Given the description of an element on the screen output the (x, y) to click on. 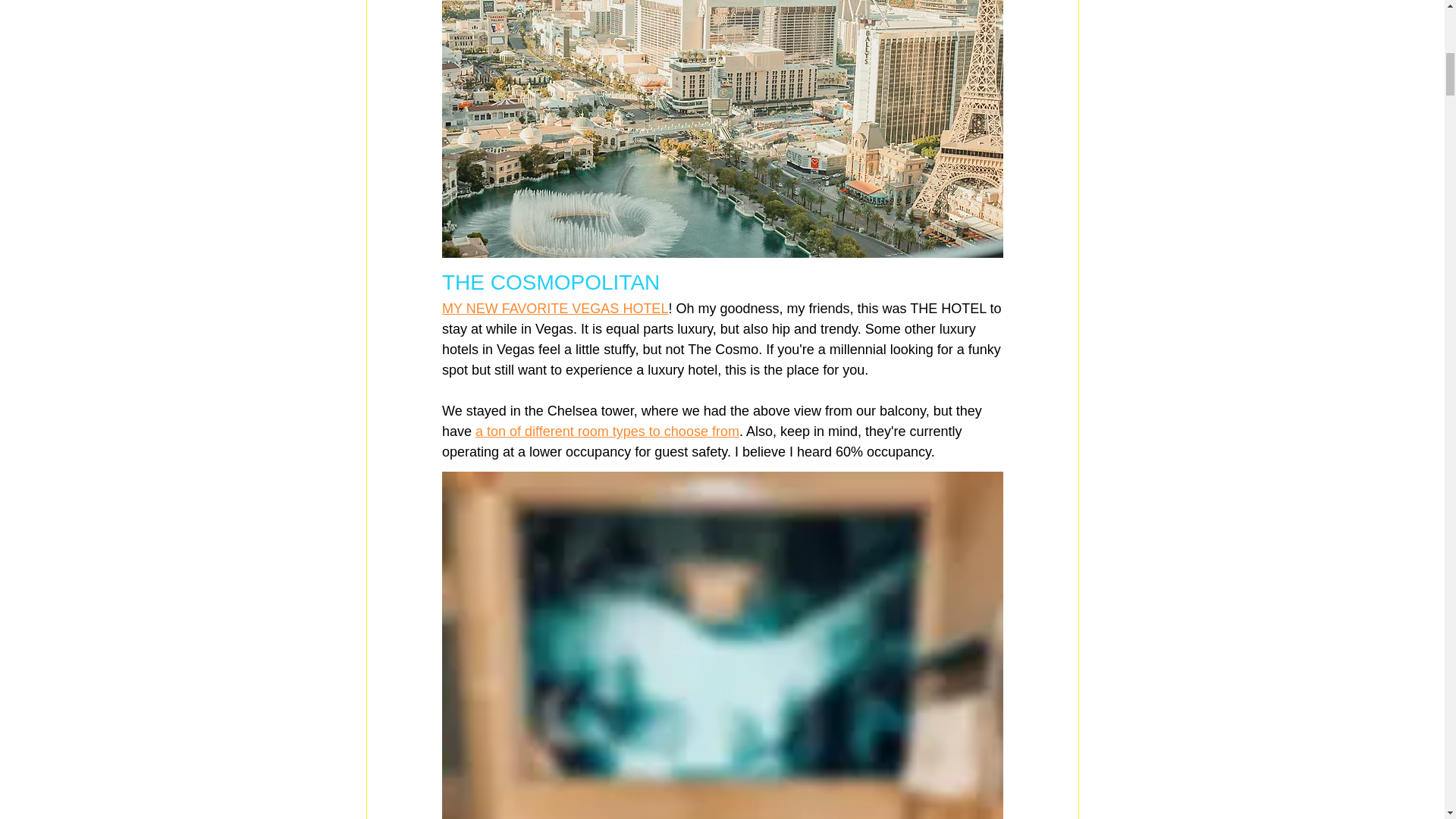
MY NEW FAVORITE VEGAS HOTEL (553, 308)
a ton of different room types to choose from (607, 431)
